Given the description of an element on the screen output the (x, y) to click on. 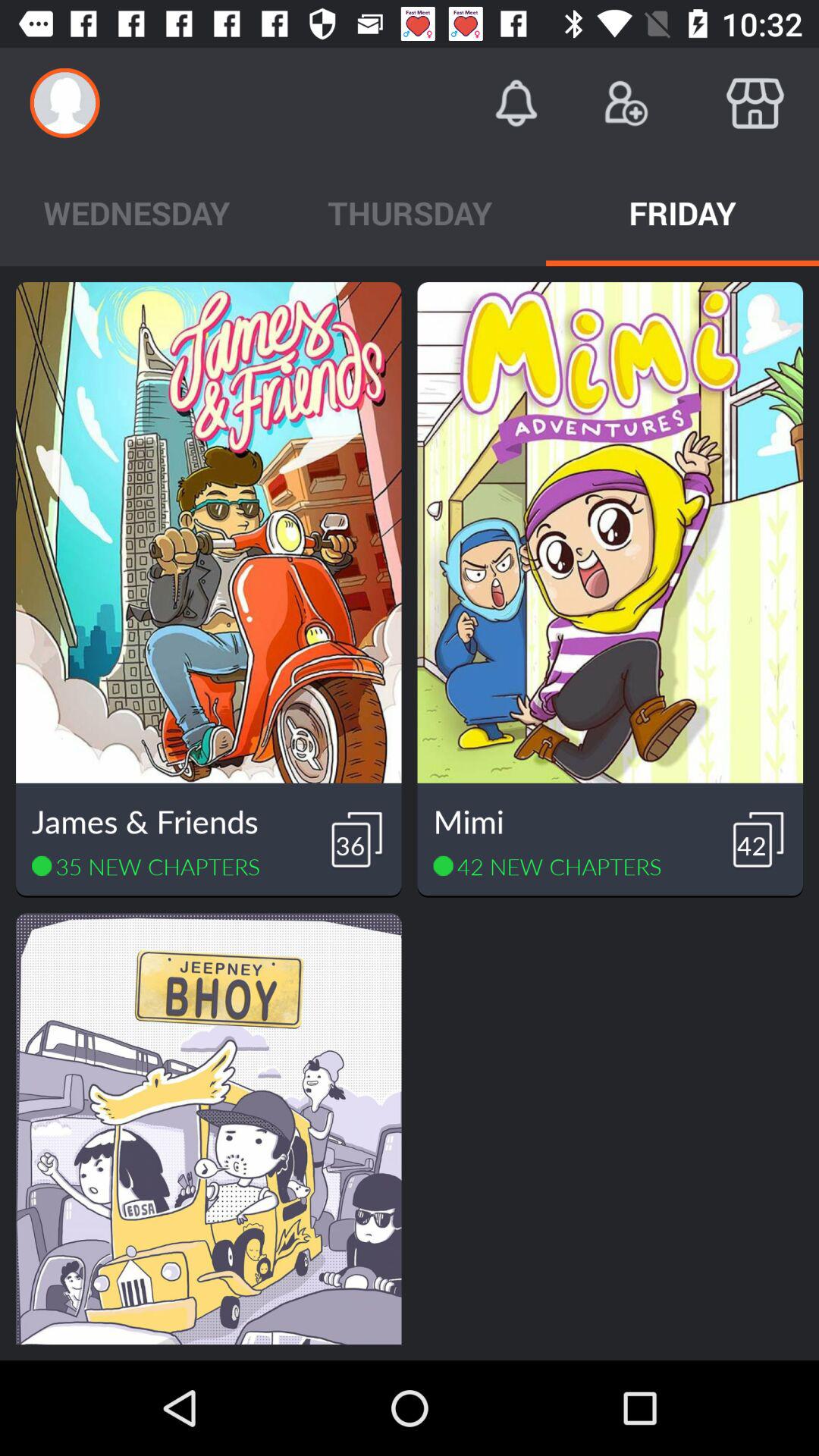
turn off the icon to the left of the friday (409, 212)
